Given the description of an element on the screen output the (x, y) to click on. 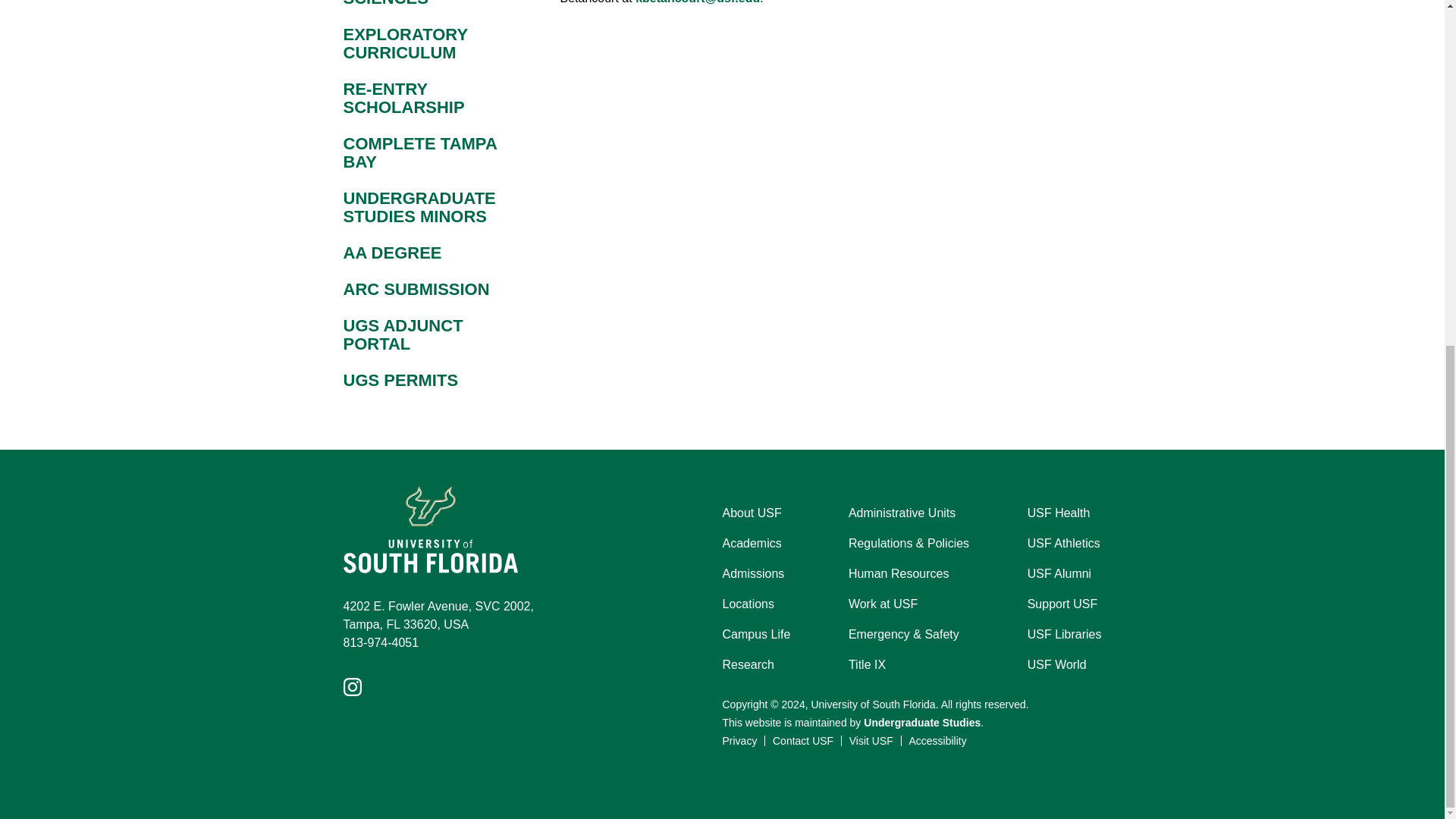
ARC SUBMISSION (432, 289)
Locations (748, 604)
UGS PERMITS (432, 380)
RE-ENTRY SCHOLARSHIP (432, 98)
UGS ADJUNCT PORTAL (432, 334)
Work at USF (882, 604)
Campus Life (756, 634)
COMPLETE TAMPA BAY (432, 153)
BACHELOR OF SCIENCE IN APPLIED SCIENCES (432, 3)
AA DEGREE (432, 253)
Academics (751, 543)
About USF (751, 513)
Admissions (753, 574)
UGS Permits (432, 380)
EXPLORATORY CURRICULUM (432, 43)
